Given the description of an element on the screen output the (x, y) to click on. 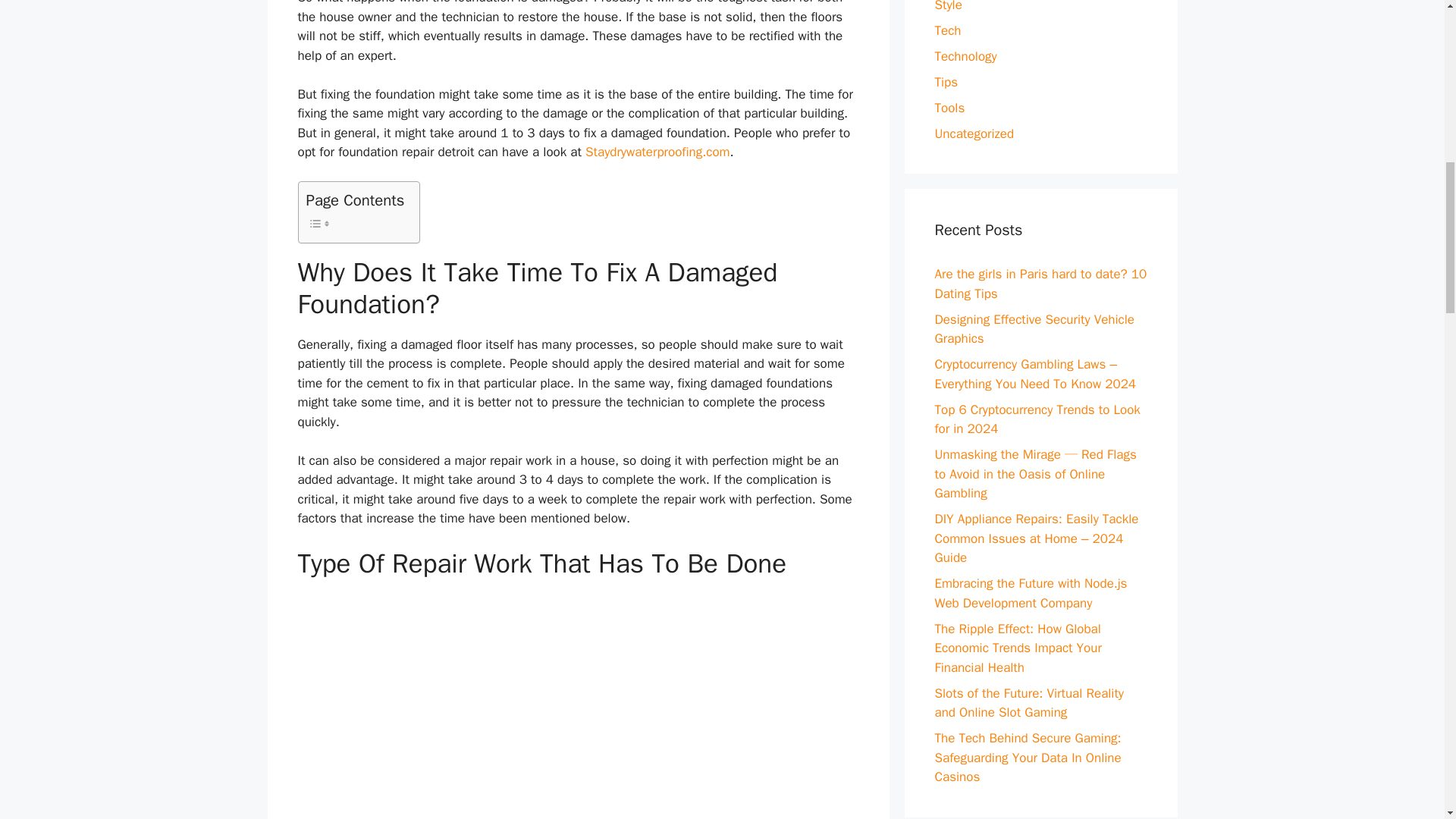
Staydrywaterproofing.com (657, 151)
